Given the description of an element on the screen output the (x, y) to click on. 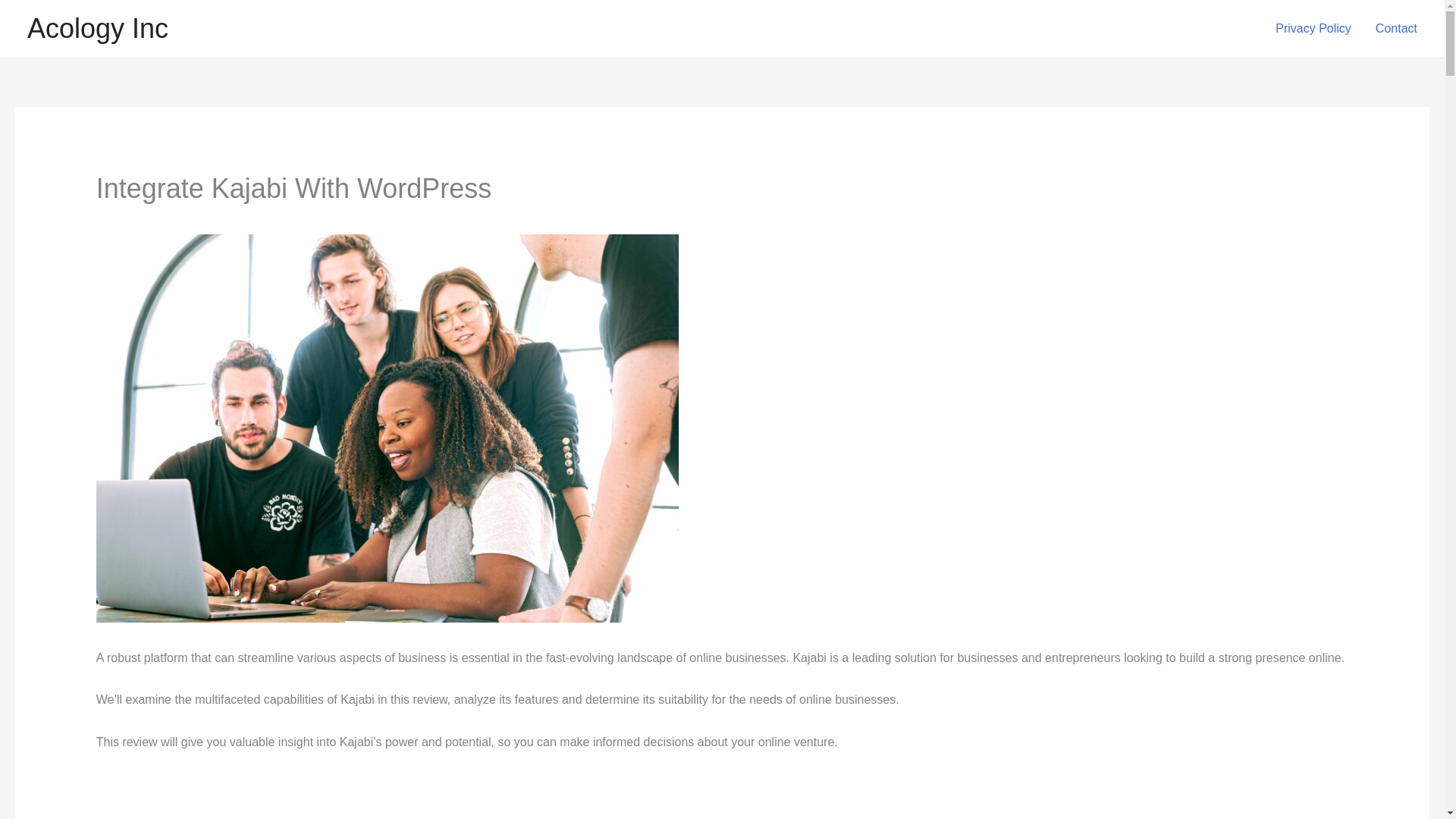
Acology Inc (97, 28)
Privacy Policy (1312, 28)
Contact (1395, 28)
